Given the description of an element on the screen output the (x, y) to click on. 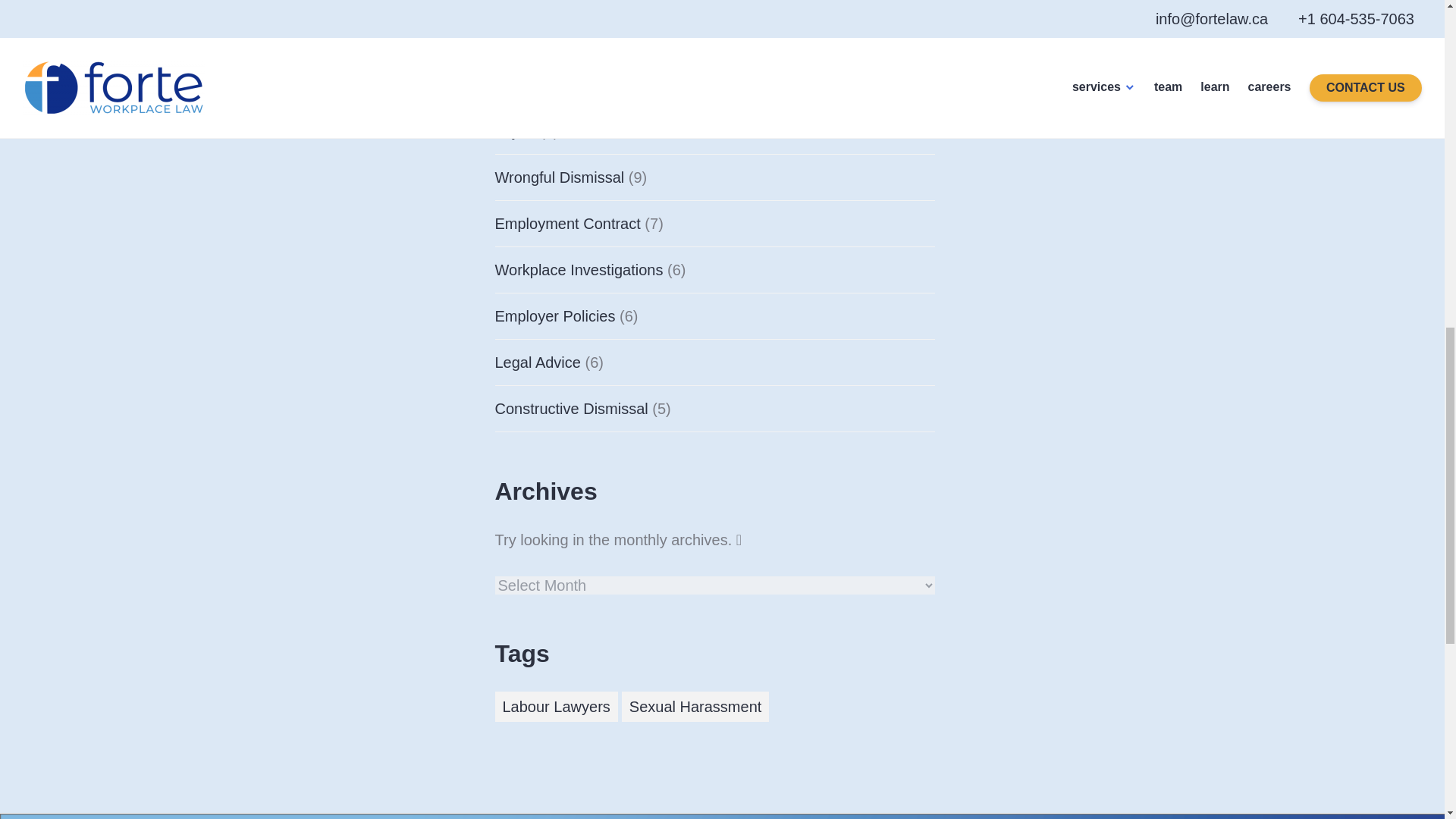
Constructive Dismissal (571, 408)
Employment Contract (567, 223)
Layoff (515, 130)
Workplace Investigations (578, 269)
Labour Lawyers (556, 706)
Sexual Harassment (695, 706)
Covid-19 (524, 38)
Employer Policies (554, 315)
Legal Advice (537, 361)
Human Rights (543, 84)
